Given the description of an element on the screen output the (x, y) to click on. 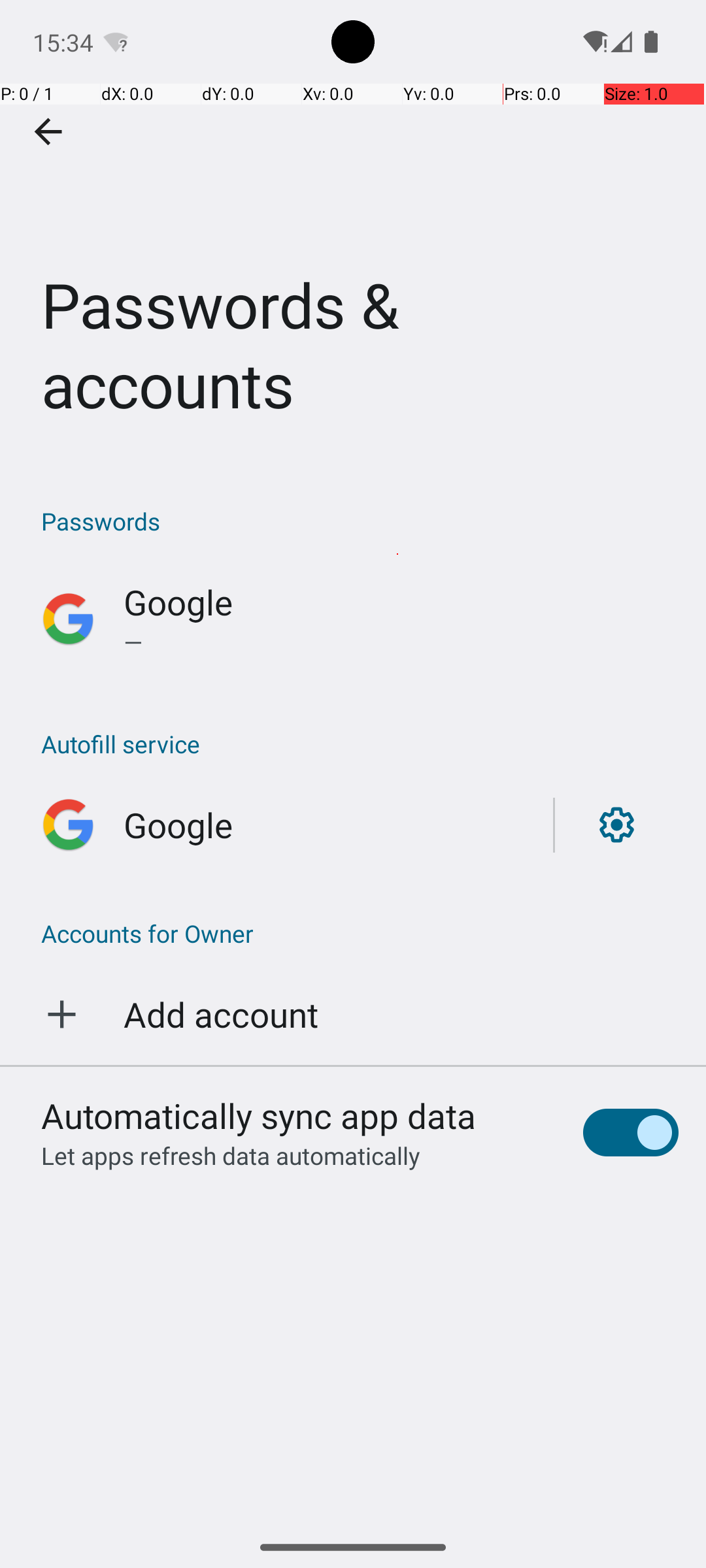
Passwords & accounts Element type: android.widget.FrameLayout (353, 231)
Accounts for Owner Element type: android.widget.LinearLayout (353, 932)
Passwords Element type: android.widget.TextView (359, 520)
— Element type: android.widget.TextView (400, 641)
Autofill service Element type: android.widget.TextView (359, 743)
Automatically sync app data Element type: android.widget.TextView (258, 1115)
Let apps refresh data automatically Element type: android.widget.TextView (230, 1155)
